Given the description of an element on the screen output the (x, y) to click on. 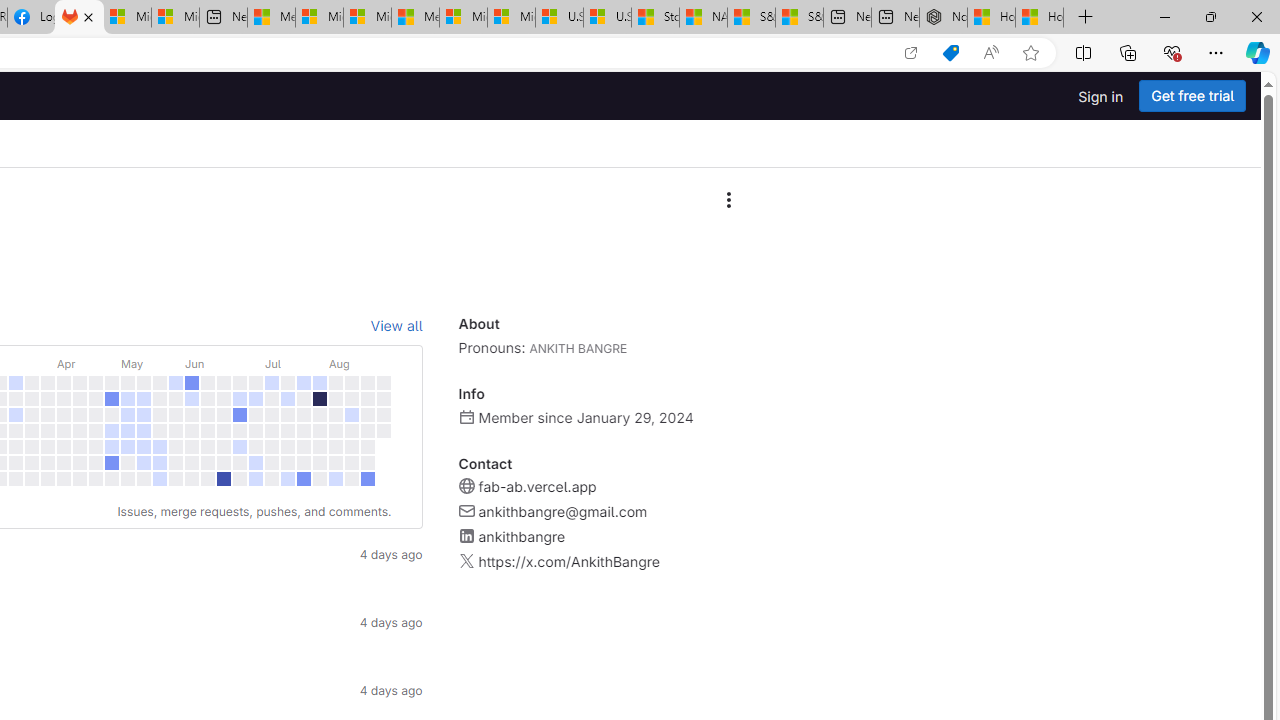
https://x.com/AnkithBangre (568, 561)
